Given the description of an element on the screen output the (x, y) to click on. 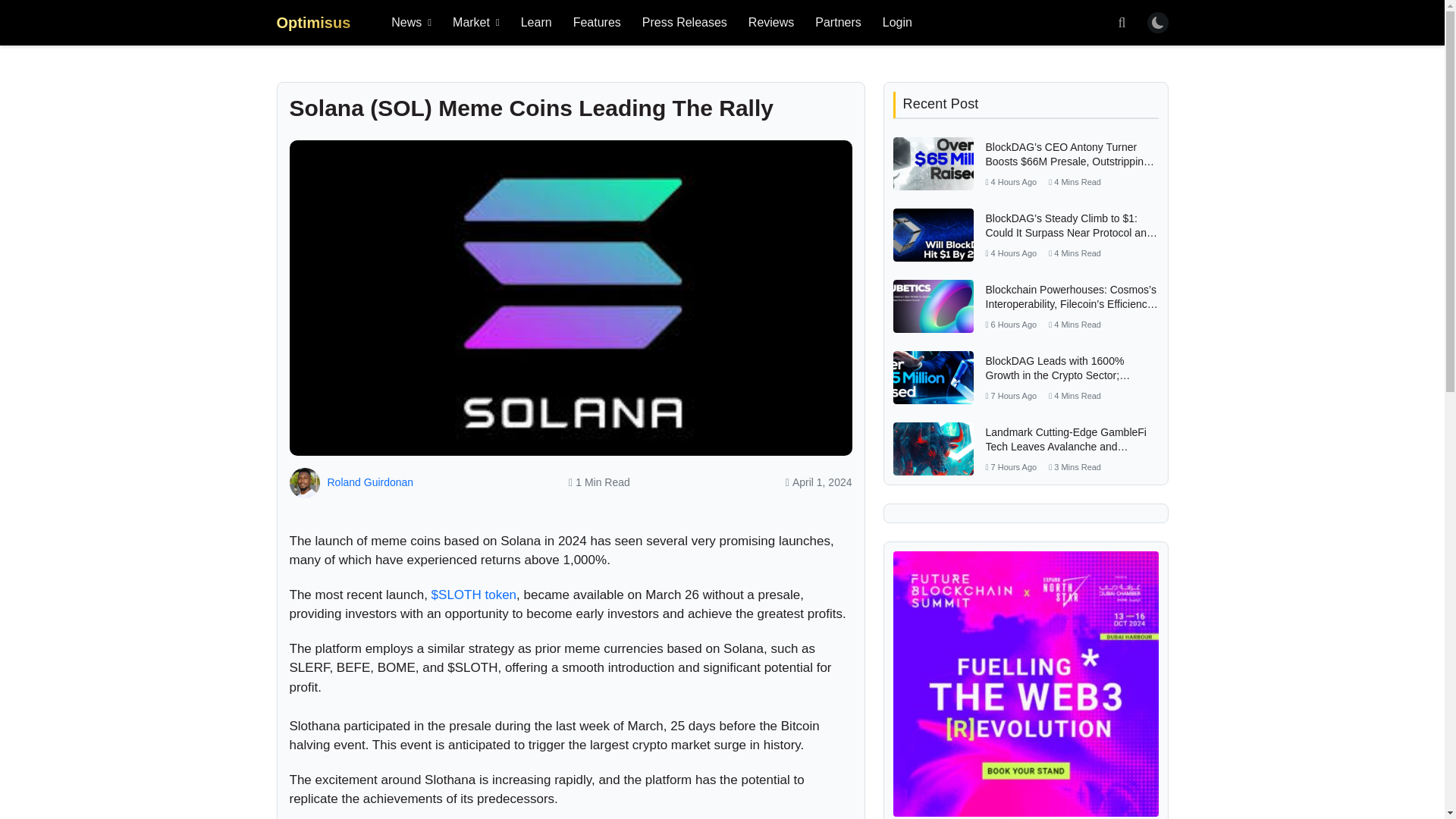
Reviews (771, 22)
Market (476, 22)
News (411, 22)
Learn (536, 22)
Market (476, 22)
Roland Guirdonan (370, 482)
Features (596, 22)
Partners (837, 22)
News (411, 22)
Learn (536, 22)
